Given the description of an element on the screen output the (x, y) to click on. 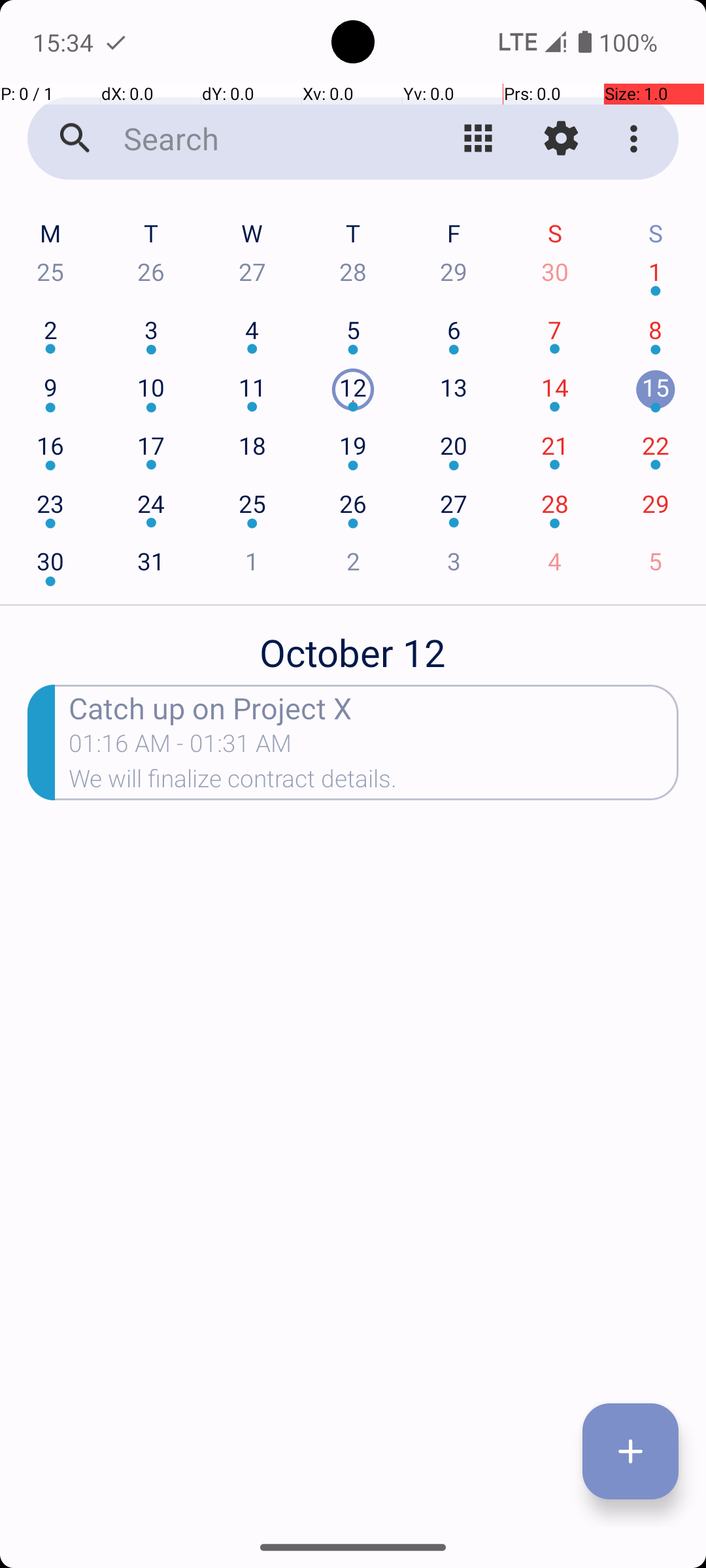
October 12 Element type: android.widget.TextView (352, 644)
01:16 AM - 01:31 AM Element type: android.widget.TextView (179, 747)
We will finalize contract details. Element type: android.widget.TextView (373, 782)
